Given the description of an element on the screen output the (x, y) to click on. 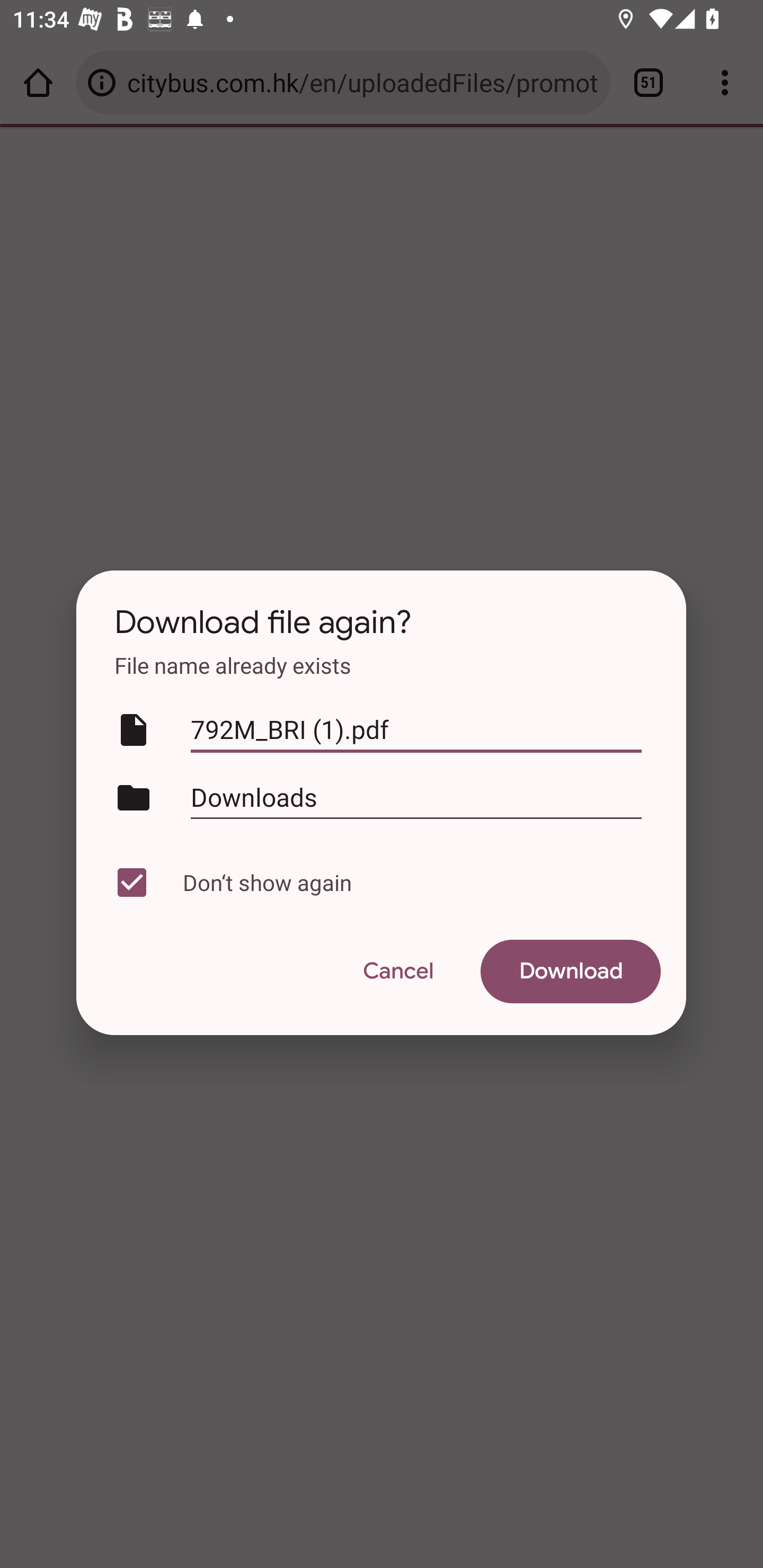
792M_BRI (1).pdf (415, 729)
Downloads (415, 797)
Don‘t show again (376, 882)
Cancel (397, 970)
Download (570, 970)
